Given the description of an element on the screen output the (x, y) to click on. 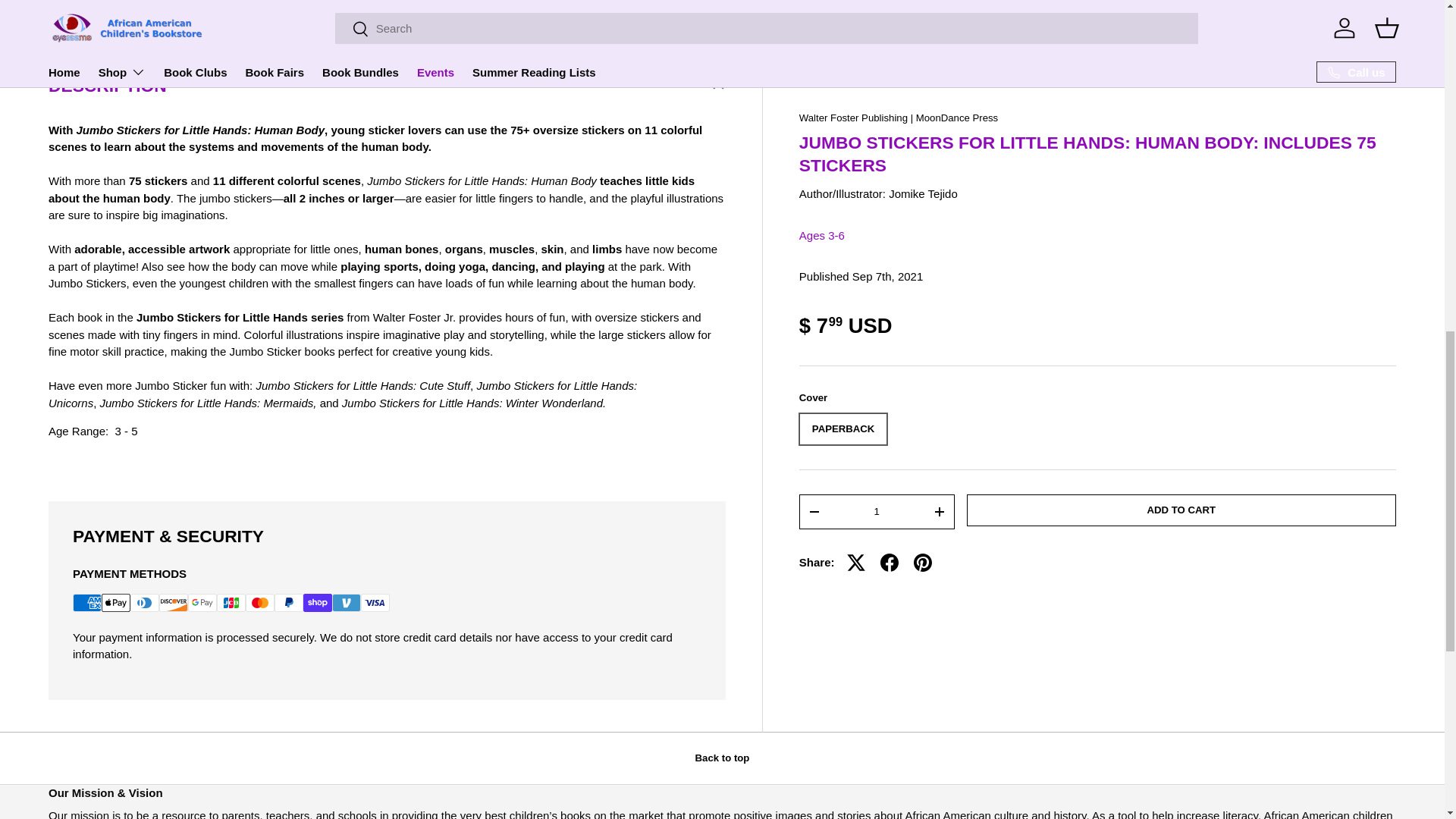
PayPal (288, 602)
Apple Pay (116, 602)
Google Pay (201, 602)
Discover (172, 602)
JCB (231, 602)
American Express (86, 602)
Mastercard (260, 602)
Diners Club (144, 602)
